Given the description of an element on the screen output the (x, y) to click on. 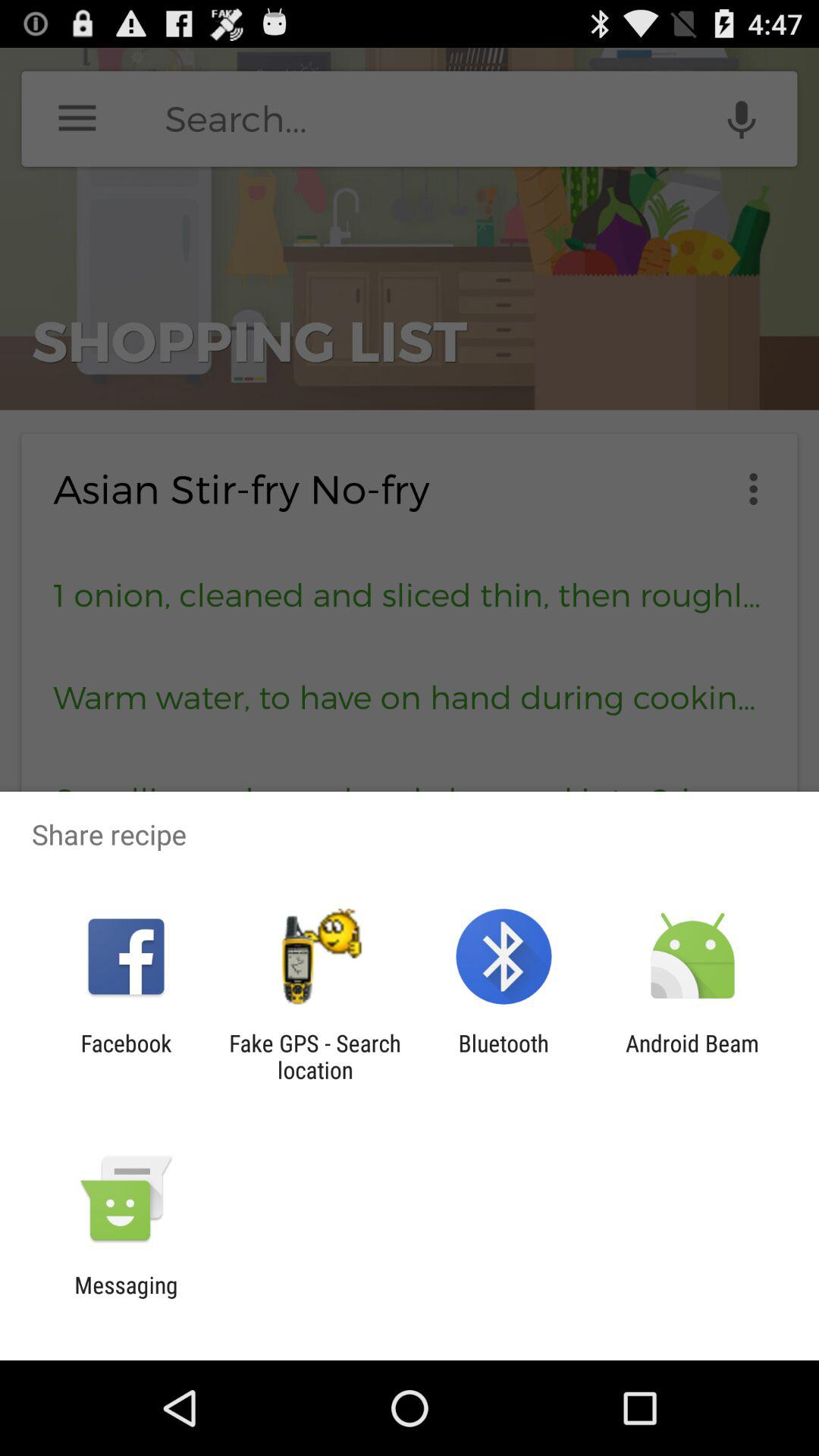
turn off the item at the bottom right corner (692, 1056)
